Given the description of an element on the screen output the (x, y) to click on. 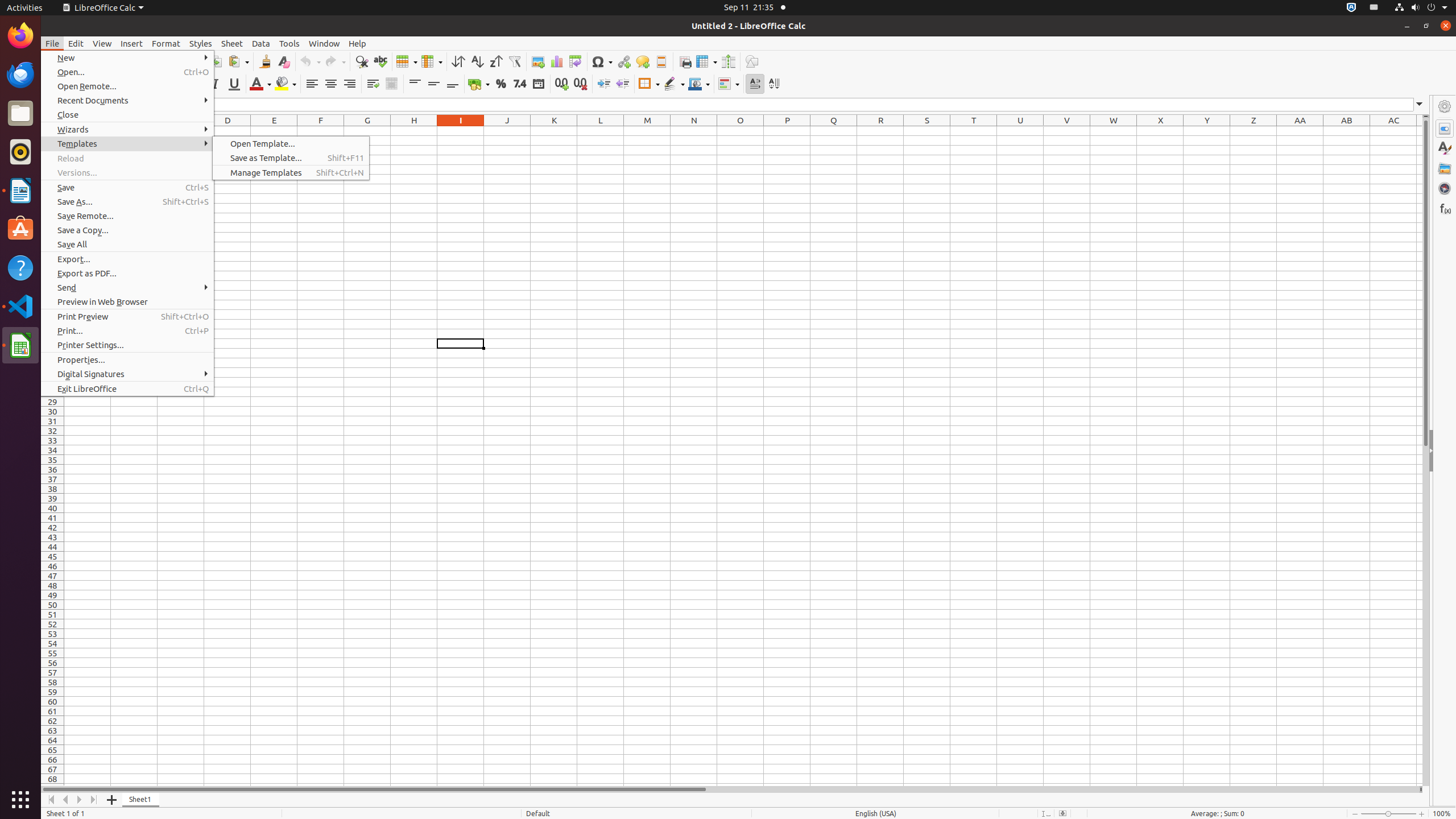
Digital Signatures Element type: menu (126, 373)
P1 Element type: table-cell (786, 130)
X1 Element type: table-cell (1159, 130)
V1 Element type: table-cell (1066, 130)
Align Top Element type: push-button (414, 83)
